Given the description of an element on the screen output the (x, y) to click on. 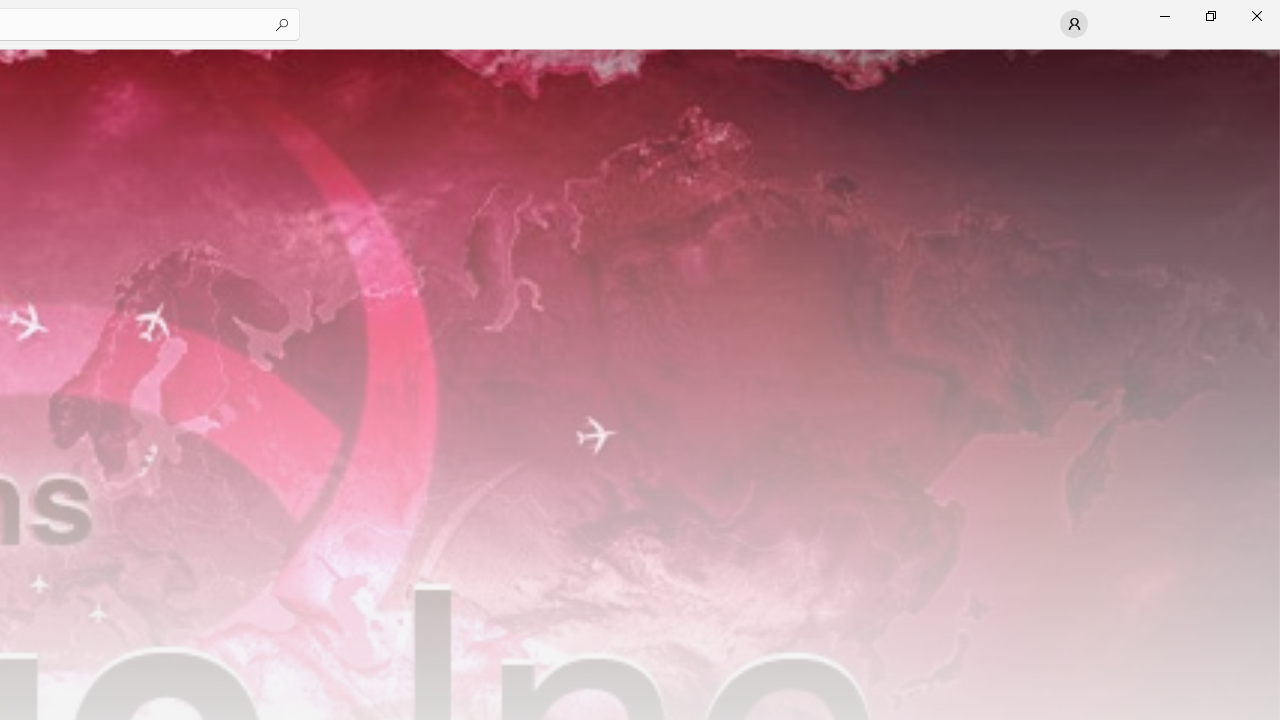
Close Microsoft Store (1256, 15)
Minimize Microsoft Store (1164, 15)
User profile (1073, 24)
Restore Microsoft Store (1210, 15)
